Given the description of an element on the screen output the (x, y) to click on. 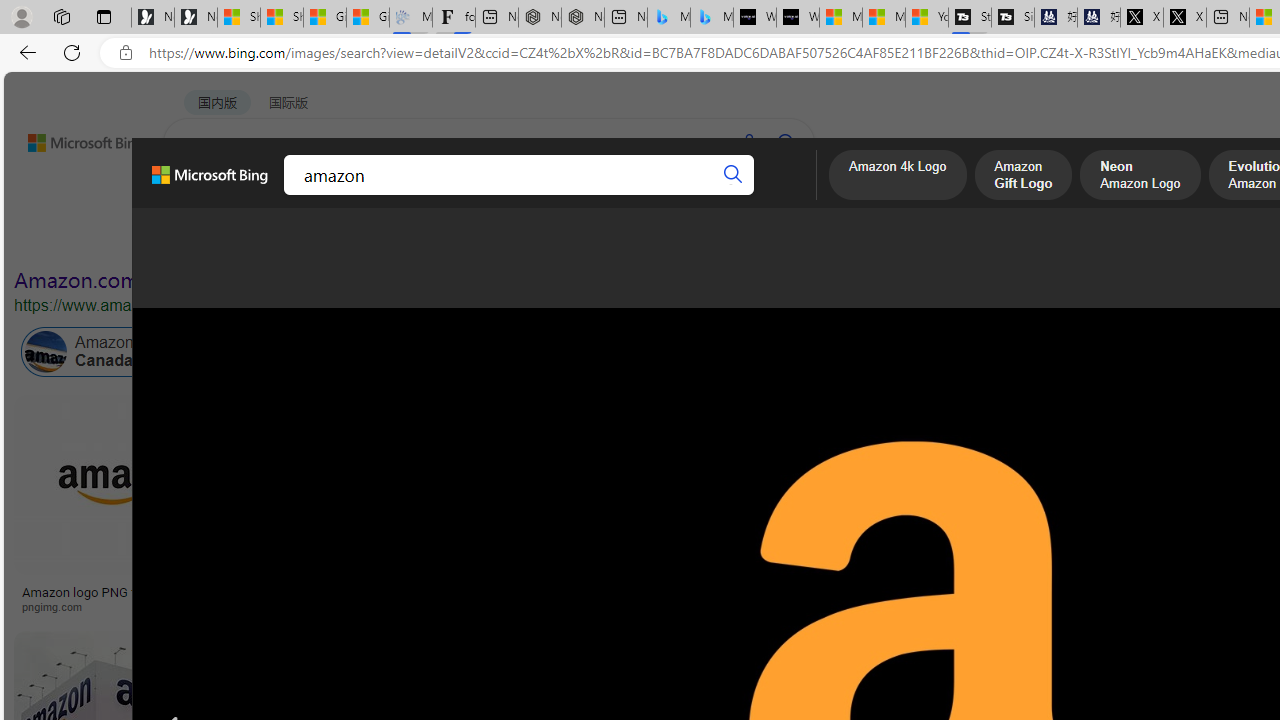
Color (305, 237)
Listen: What's next for Amazon? (653, 592)
pngimg.com (58, 605)
MORE (779, 195)
